Given the description of an element on the screen output the (x, y) to click on. 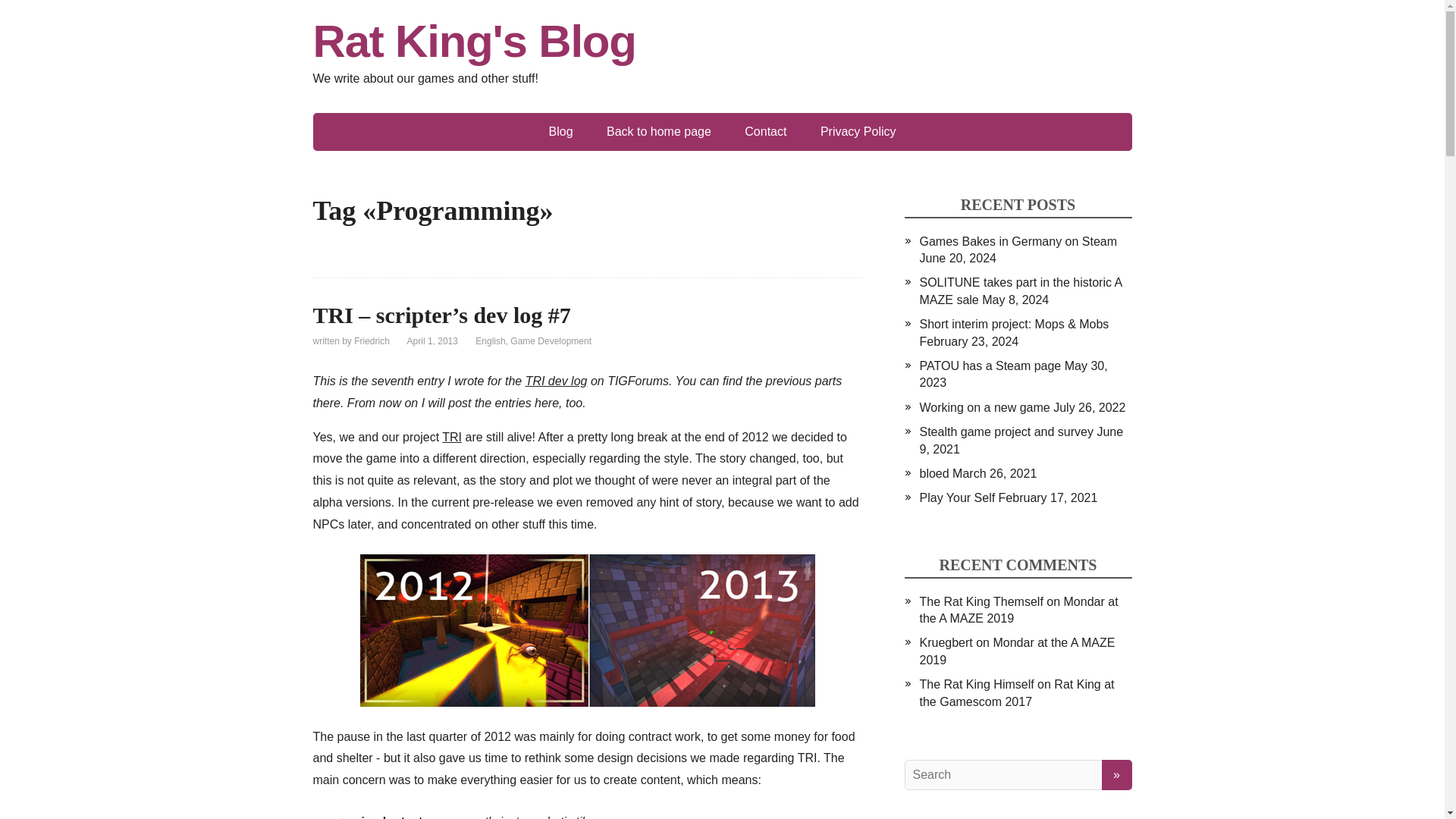
Game Development (551, 340)
Contact (765, 131)
Working on a new game (983, 407)
TRI (451, 436)
Games Bakes in Germany on Steam (1017, 241)
TRI dev log (556, 380)
Stealth game project and survey (1005, 431)
Rat King's Blog (722, 41)
Blog (561, 131)
Rat King's Blog (722, 41)
Rat King at the Gamescom 2017 (1015, 692)
Play Your Self (956, 497)
Mondar at the A MAZE 2019 (1016, 650)
Privacy Policy (858, 131)
SOLITUNE takes part in the historic A MAZE sale (1019, 290)
